Given the description of an element on the screen output the (x, y) to click on. 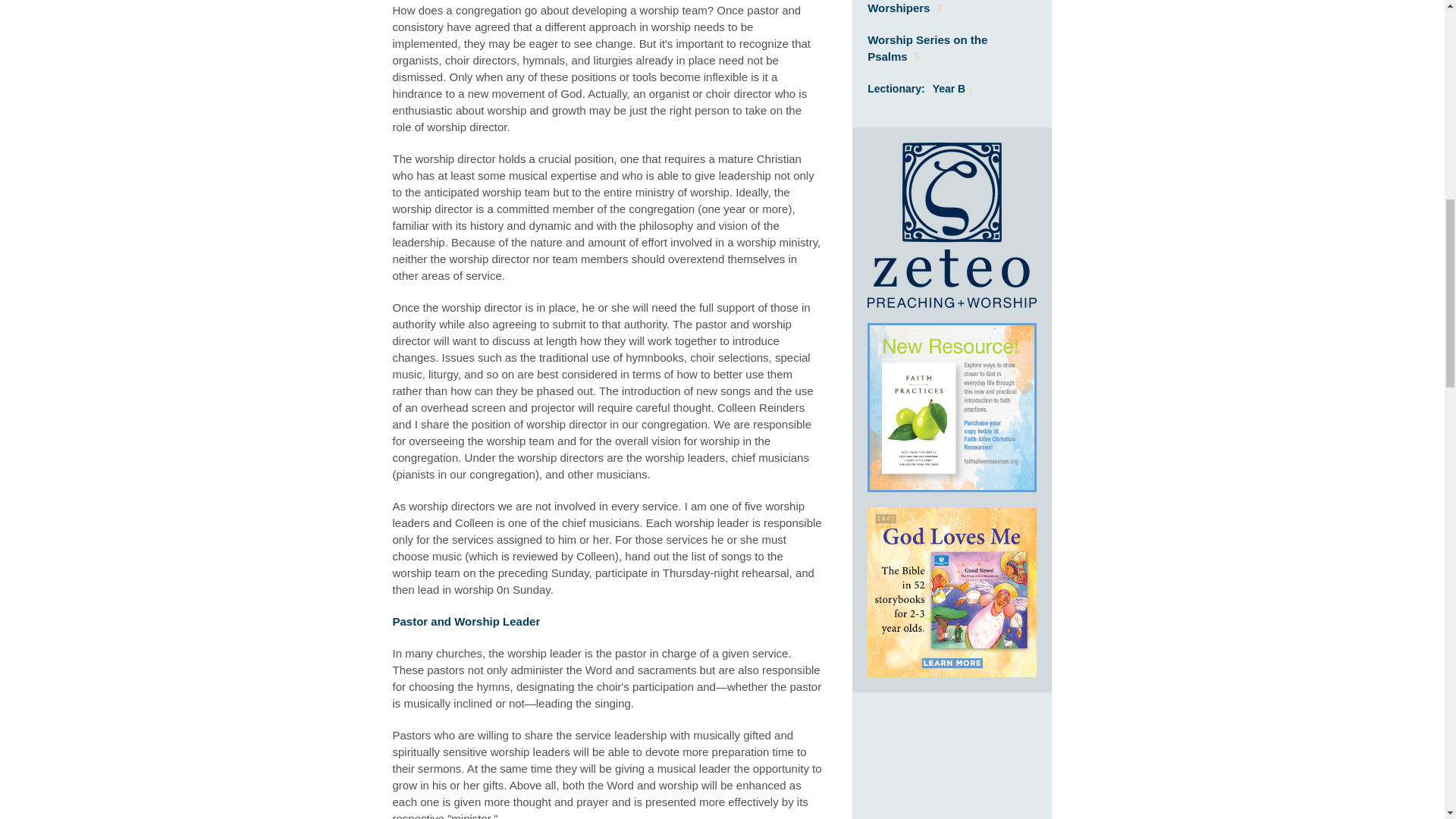
Worship Series on the Psalms (927, 48)
Year B (952, 88)
Sabbath-Keeping for Lead Worshipers (938, 7)
